Given the description of an element on the screen output the (x, y) to click on. 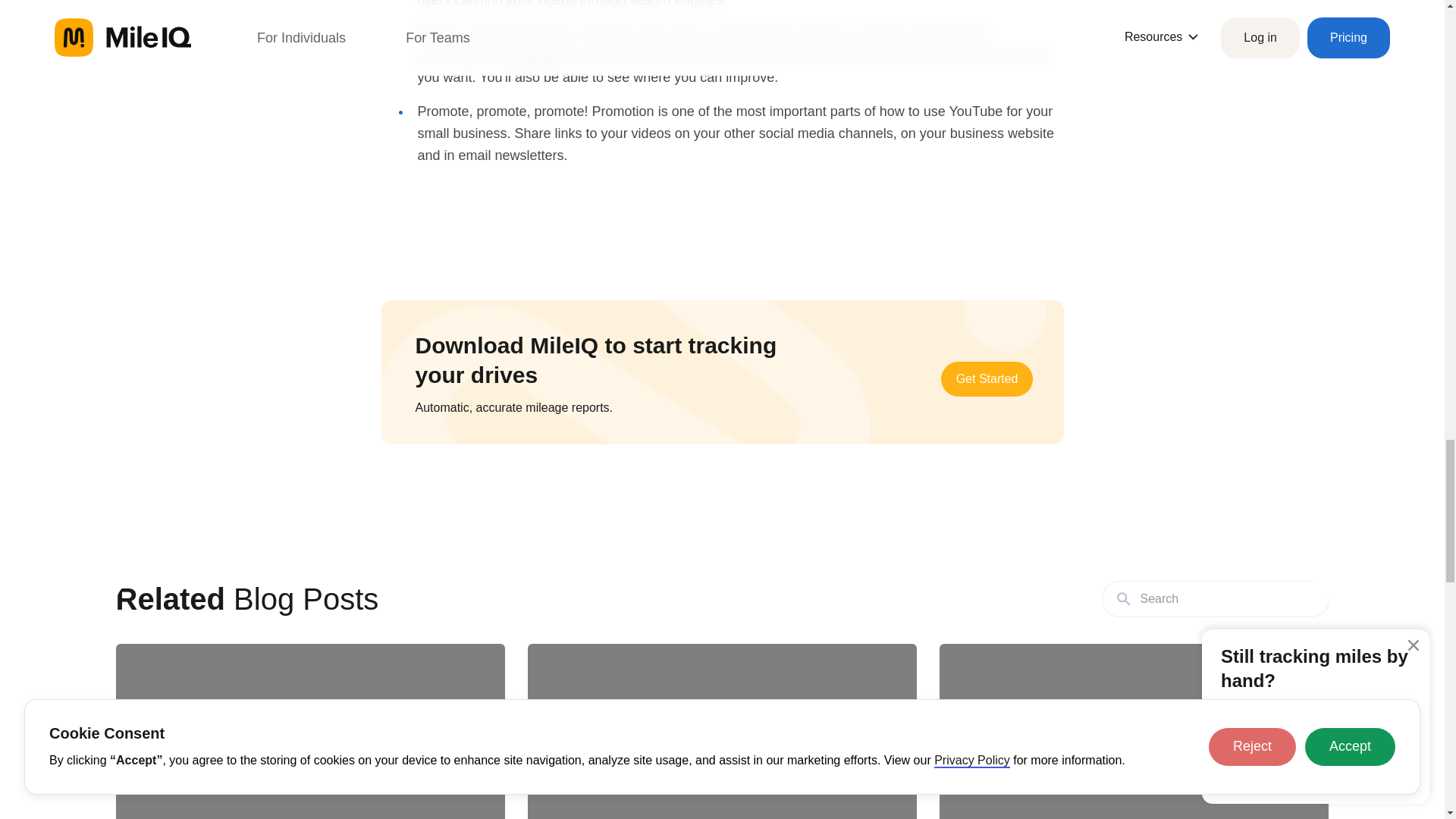
Get Started (986, 378)
